Given the description of an element on the screen output the (x, y) to click on. 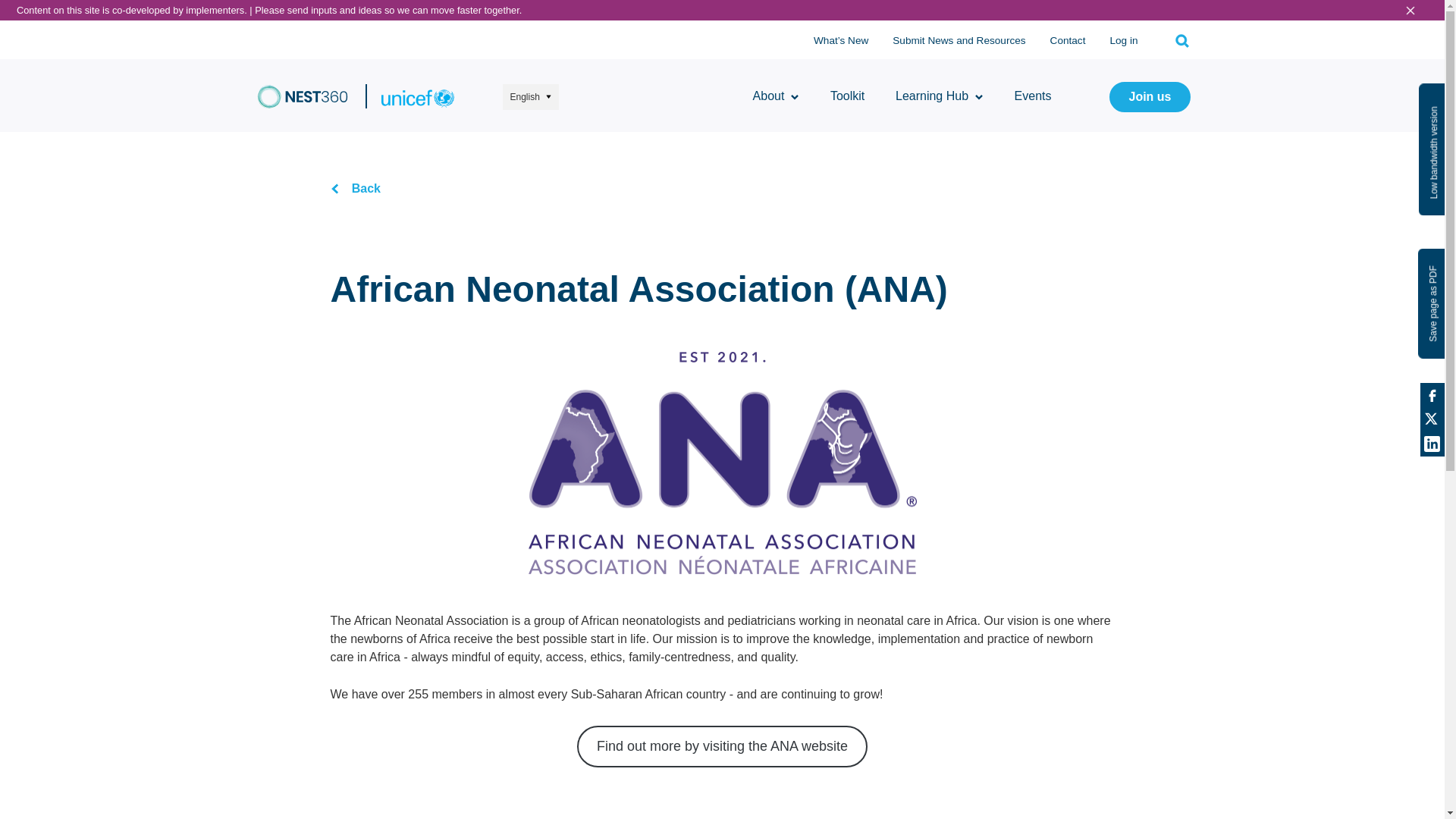
Log in (1123, 40)
Join us (1149, 96)
Submit News and Resources (958, 40)
Toolkit (846, 95)
Events (1032, 95)
English (529, 96)
Find out more by visiting the ANA website (721, 746)
Contact (1067, 40)
Back (355, 188)
